Given the description of an element on the screen output the (x, y) to click on. 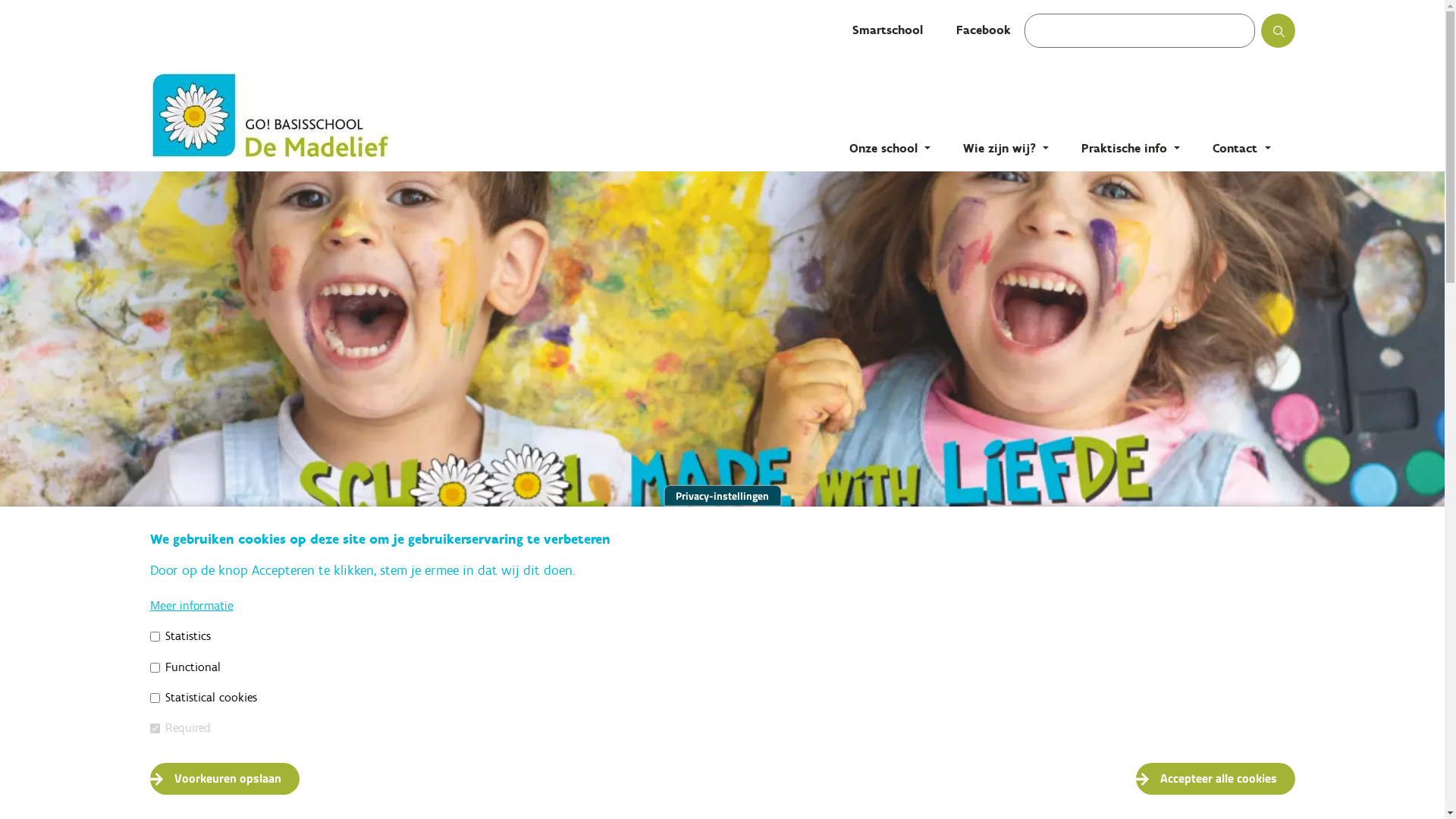
Zoeken Element type: text (1291, 35)
Ga naar de homepage Element type: hover (301, 115)
Facebook Element type: text (982, 29)
Naar de inhoud Element type: text (0, 0)
Wie zijn wij? Element type: text (1005, 148)
Privacy-instellingen Element type: text (722, 495)
Meer informatie Element type: text (191, 605)
Contact Element type: text (1241, 148)
Smartschool Element type: text (887, 29)
Toestemming intrekken Element type: text (1314, 770)
Voorkeuren opslaan Element type: text (224, 778)
Praktische info Element type: text (1130, 148)
Accepteer alle cookies Element type: text (1215, 778)
Onze school Element type: text (889, 148)
